Given the description of an element on the screen output the (x, y) to click on. 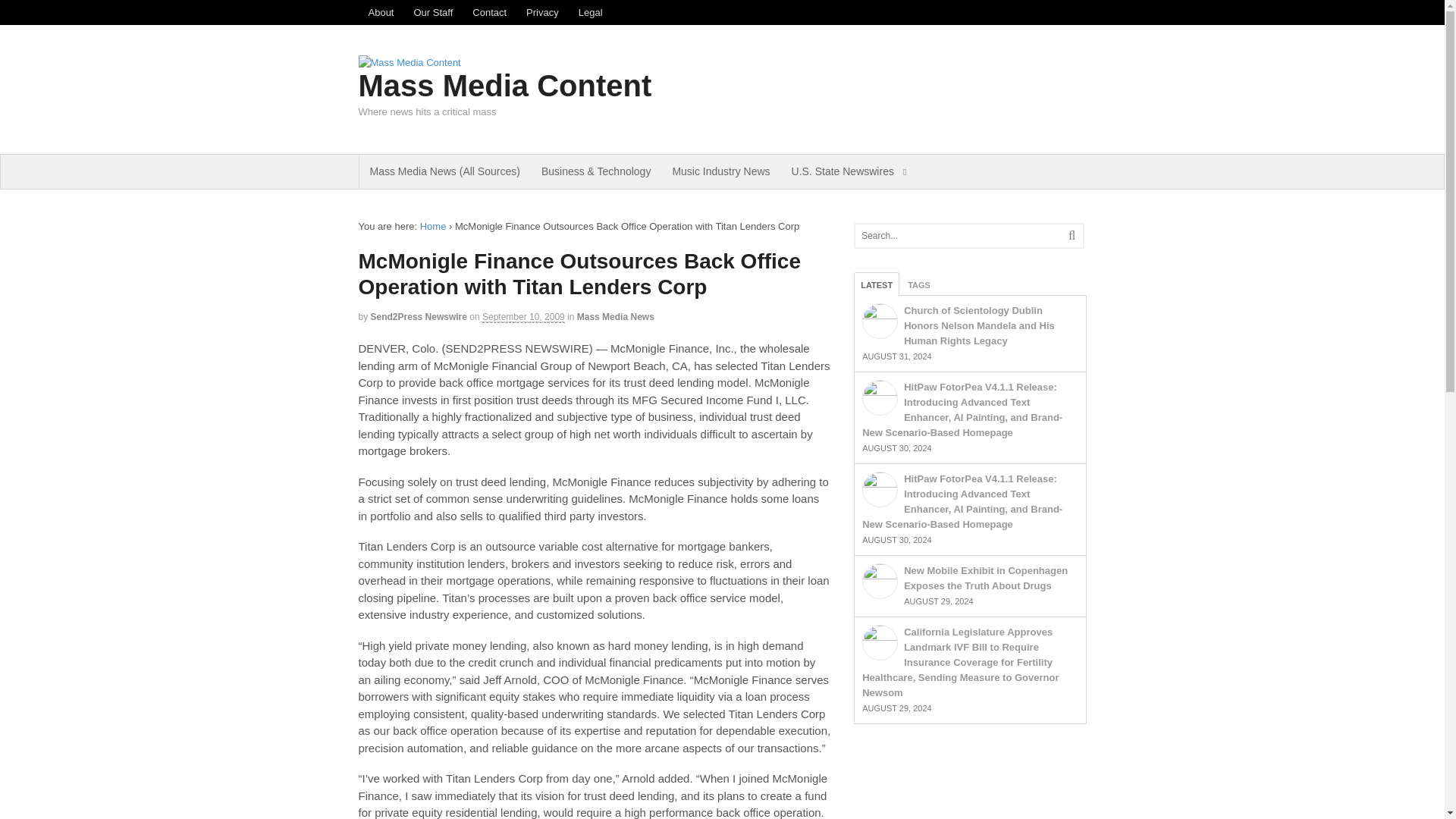
Contact (489, 12)
LATEST (876, 283)
Home (433, 225)
Privacy (542, 12)
2009-09-10T18:31:26-0400 (522, 317)
